Given the description of an element on the screen output the (x, y) to click on. 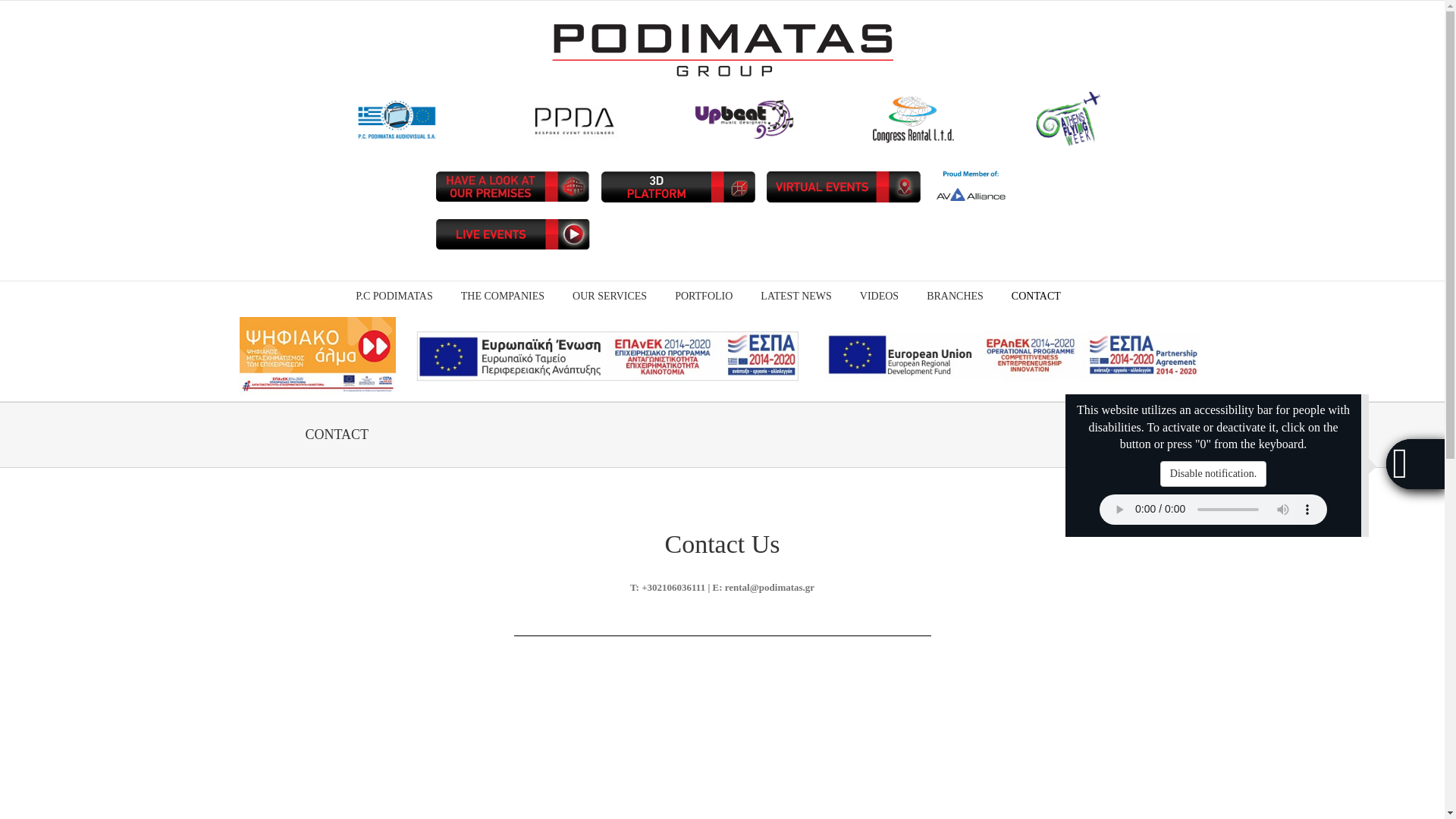
Disable notification. (1213, 473)
